Given the description of an element on the screen output the (x, y) to click on. 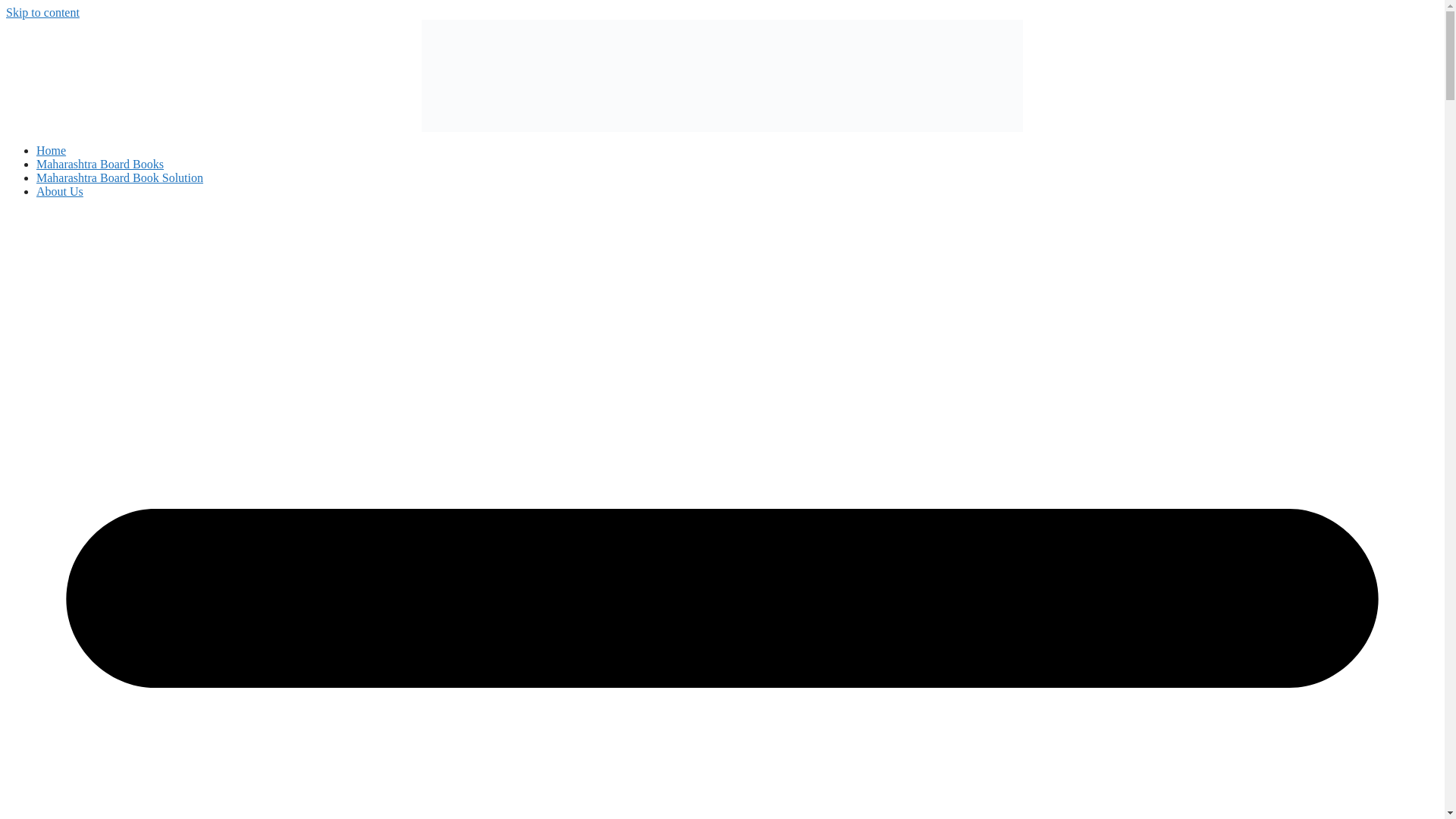
Skip to content (42, 11)
Home (50, 150)
Maharashtra Board Book Solution (119, 177)
Maharashtra Board Books (99, 164)
About Us (59, 191)
Skip to content (42, 11)
